Given the description of an element on the screen output the (x, y) to click on. 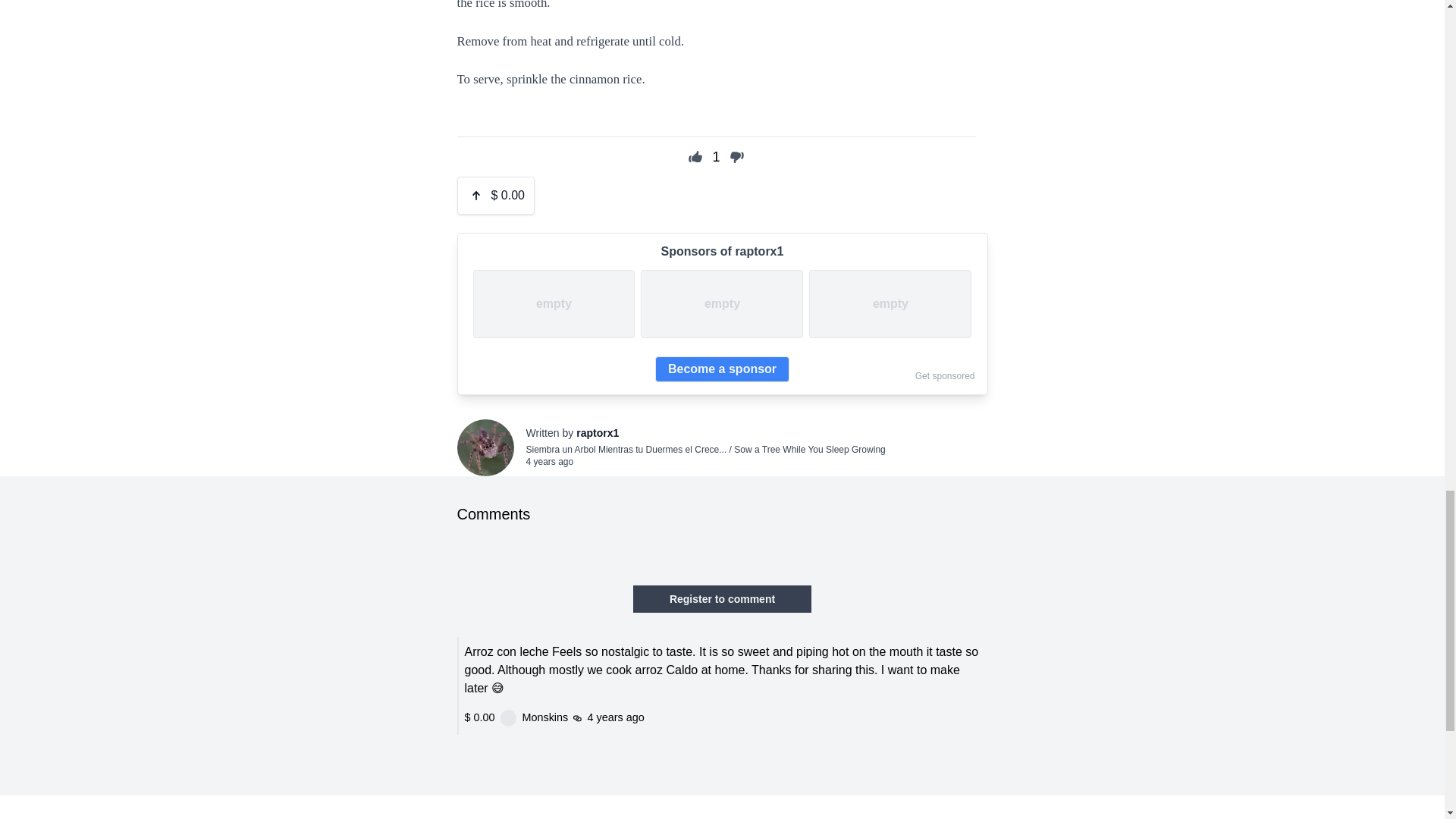
2020-05-26 14:46:53 (549, 461)
Become a sponsor (722, 369)
Get sponsored (945, 376)
raptorx1 (597, 432)
Register to comment (721, 598)
